Given the description of an element on the screen output the (x, y) to click on. 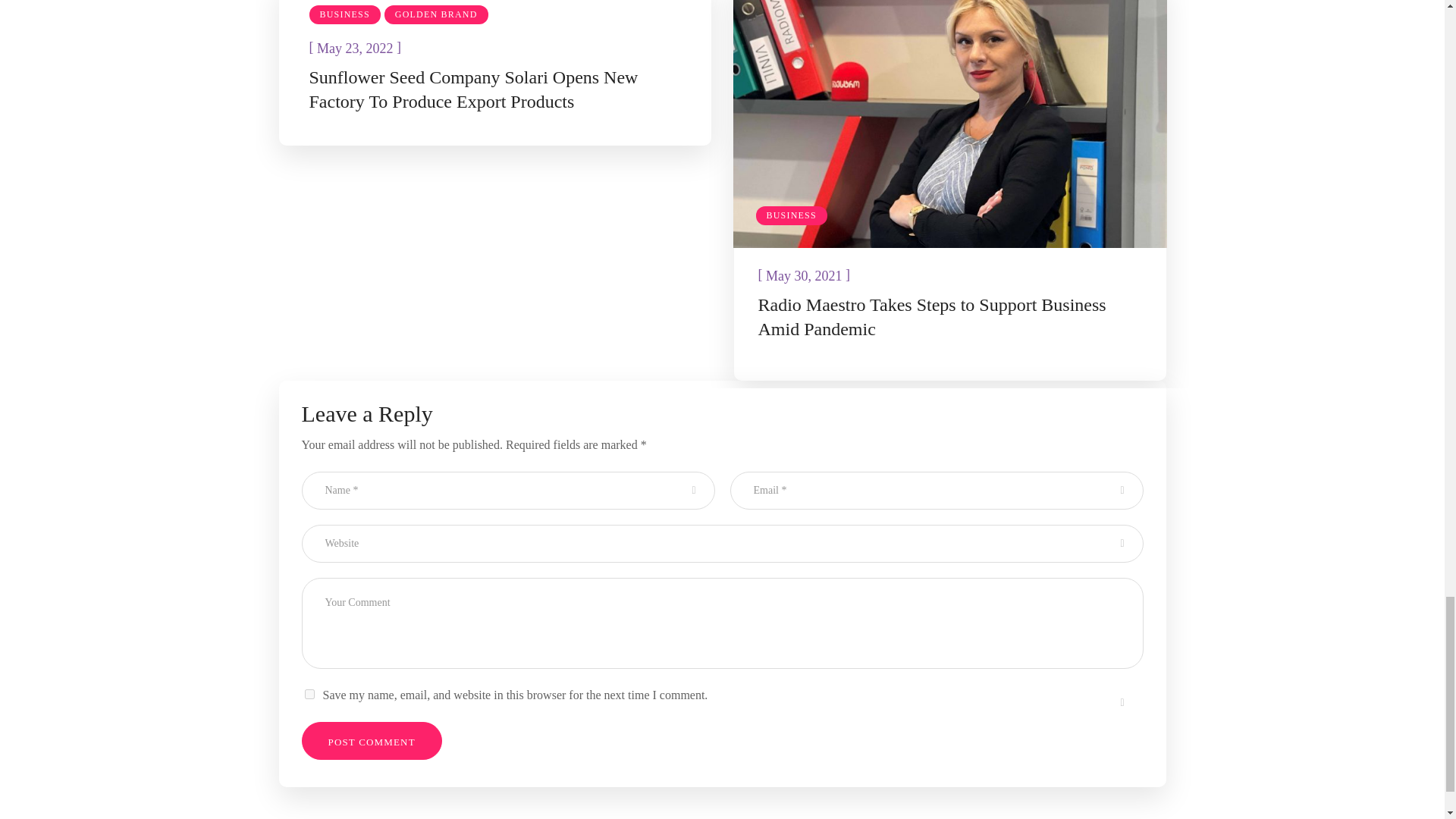
Post Comment (371, 740)
Website (721, 543)
yes (309, 694)
